Given the description of an element on the screen output the (x, y) to click on. 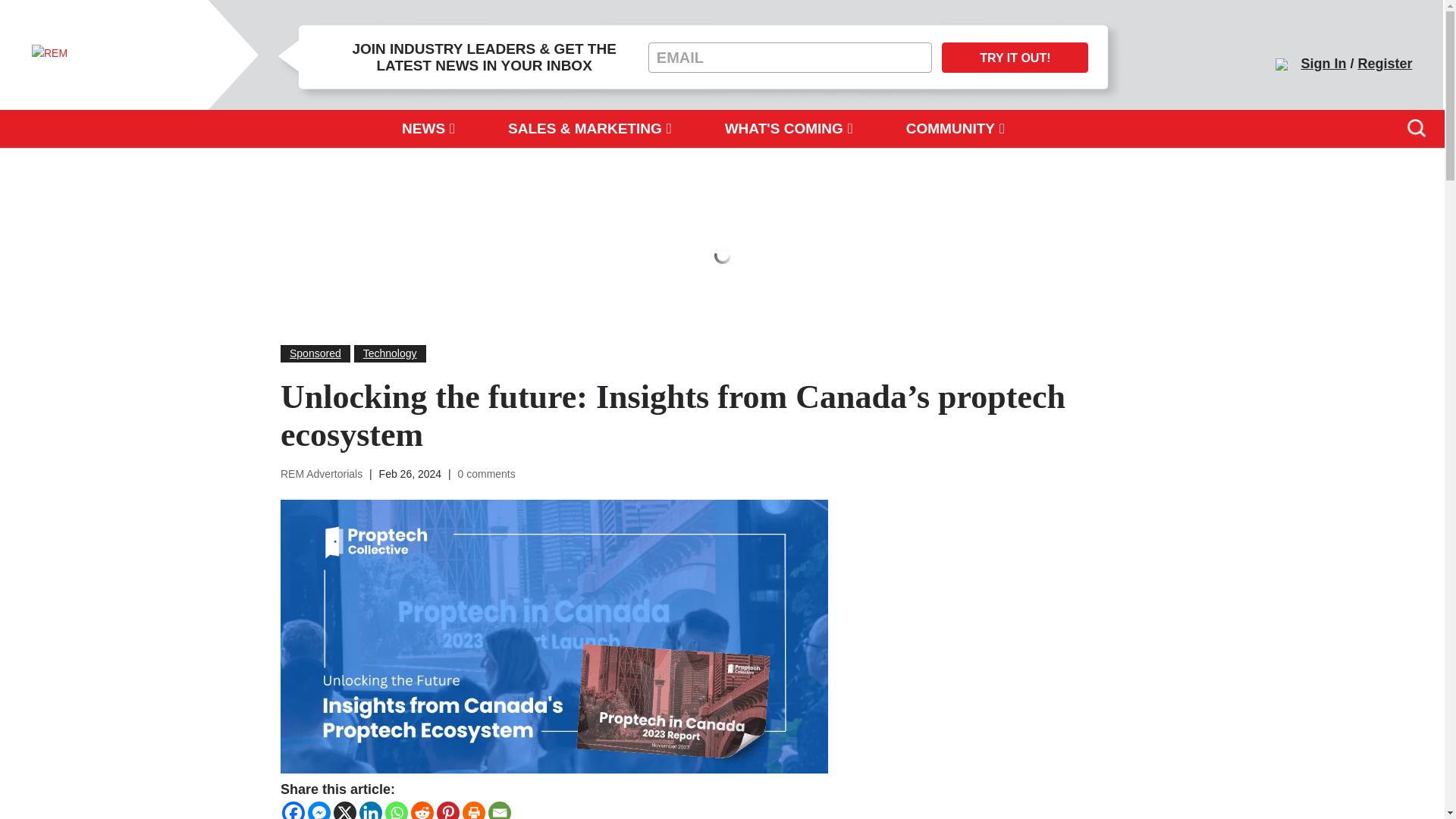
Pinterest (448, 810)
Print (473, 810)
TRY IT OUT! (1014, 57)
Facebook (293, 810)
Whatsapp (396, 810)
NEWS (428, 128)
Reddit (421, 810)
Sign In (1322, 63)
X (344, 810)
Linkedin (370, 810)
Register (1384, 63)
